Given the description of an element on the screen output the (x, y) to click on. 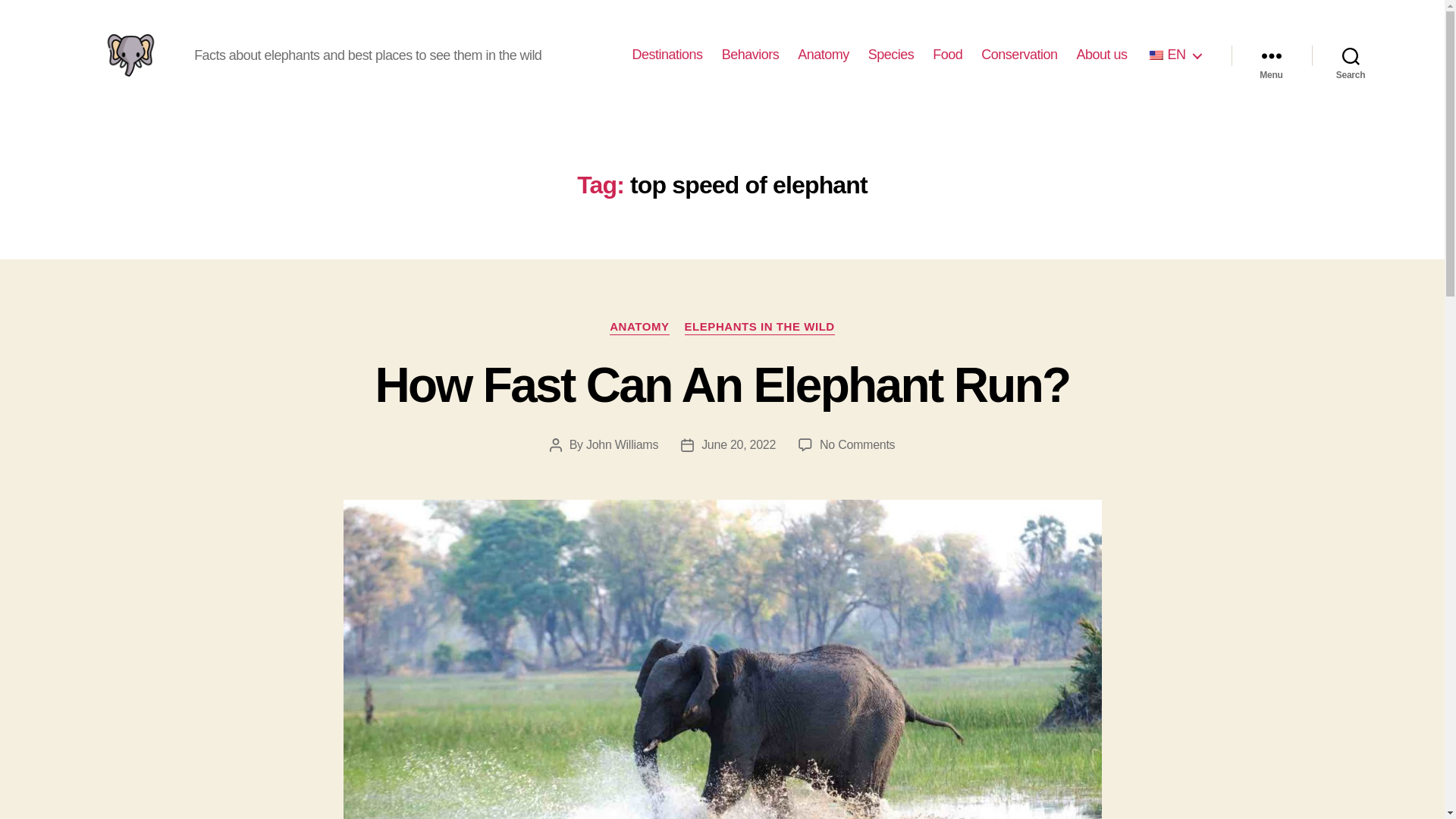
Anatomy (822, 54)
Destinations (667, 54)
Conservation (1019, 54)
Search (1350, 55)
EN (1172, 54)
Food (947, 54)
English (1156, 54)
About us (1100, 54)
Menu (1271, 55)
Behaviors (750, 54)
Species (890, 54)
